Given the description of an element on the screen output the (x, y) to click on. 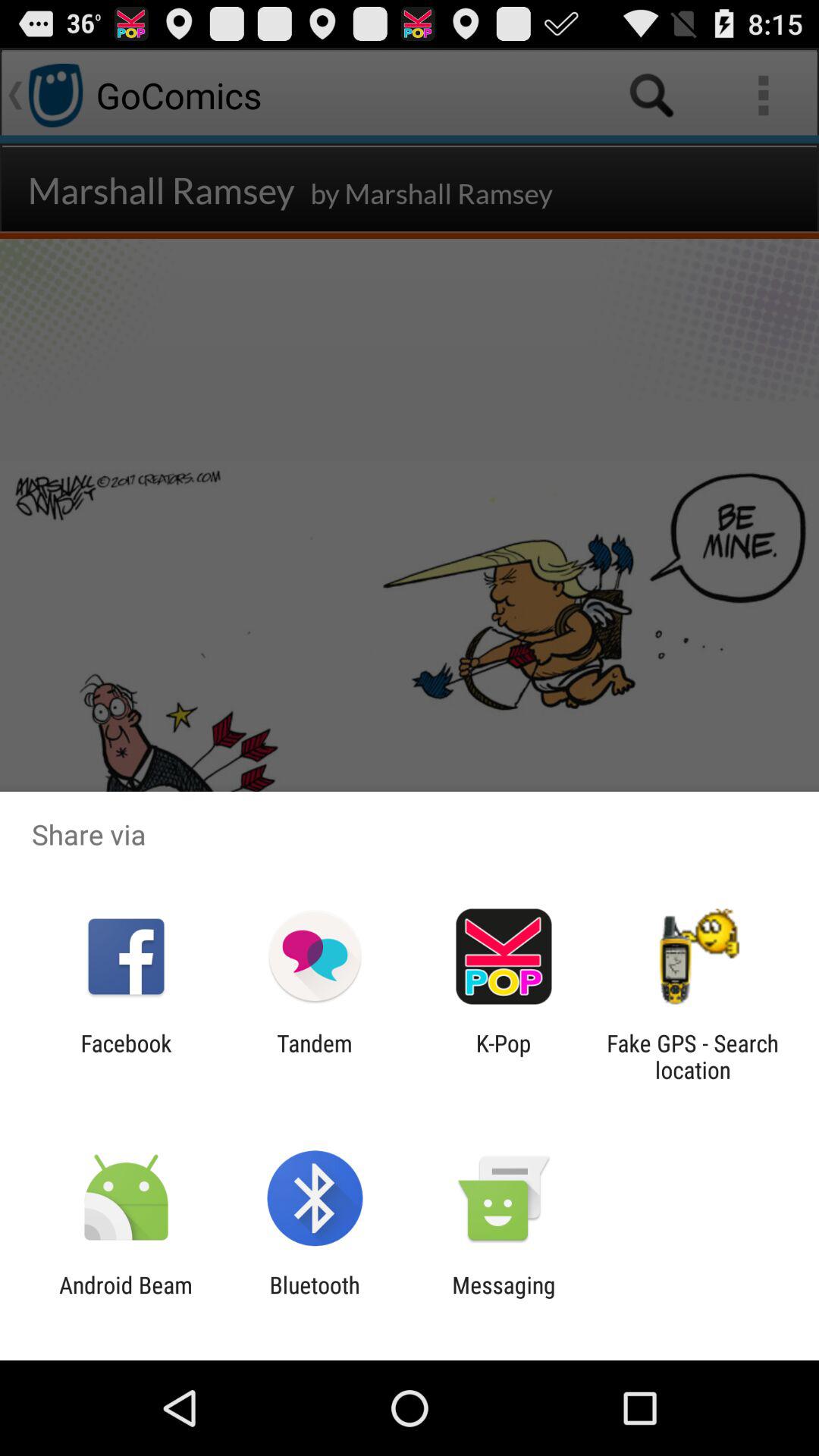
open icon to the left of the messaging item (314, 1298)
